Given the description of an element on the screen output the (x, y) to click on. 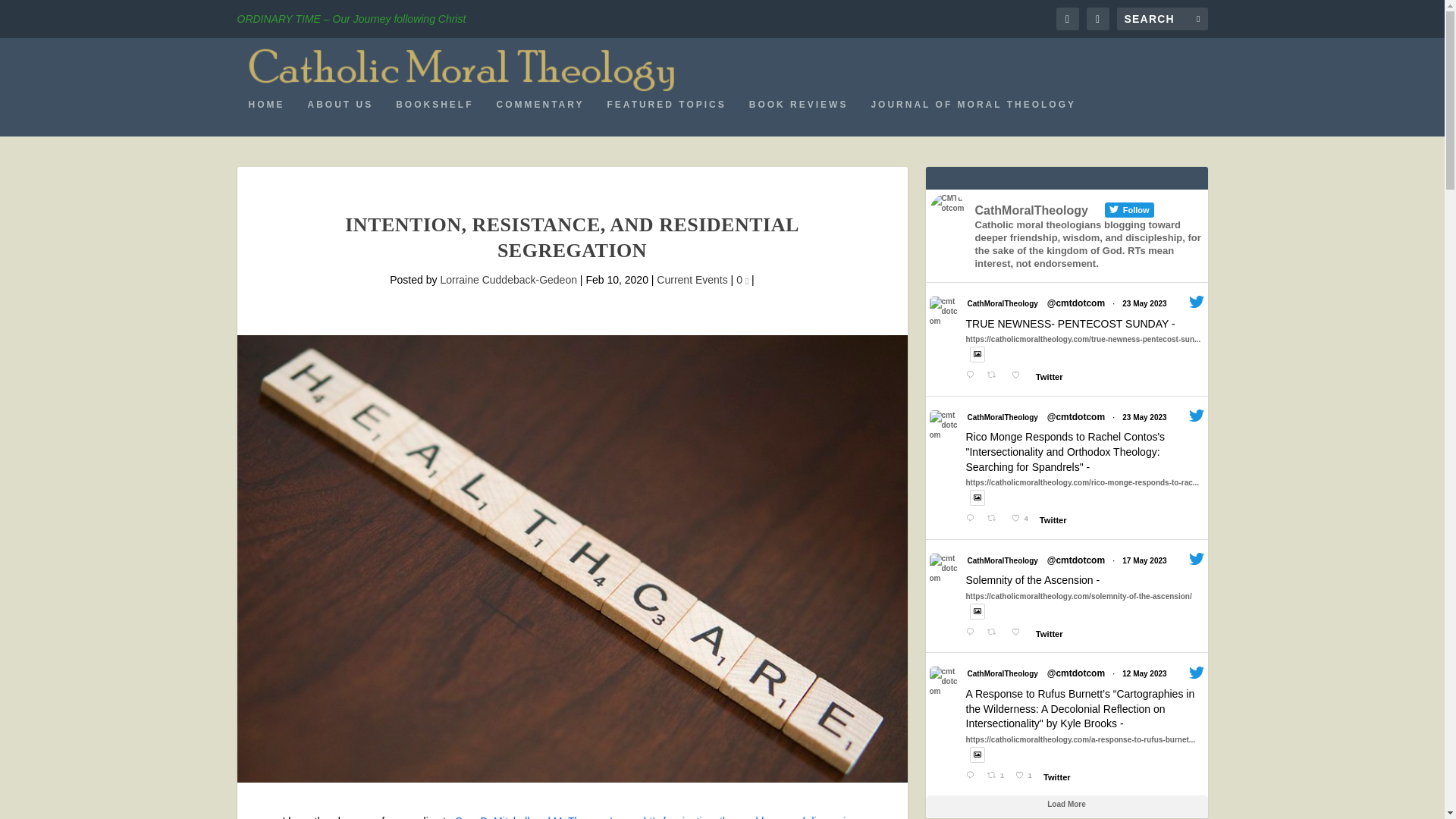
HOME (266, 117)
0 (742, 279)
Posts by Lorraine Cuddeback-Gedeon (507, 279)
FEATURED TOPICS (666, 117)
BOOKSHELF (434, 117)
Search for: (1161, 18)
COMMENTARY (540, 117)
Lorraine Cuddeback-Gedeon (507, 279)
ABOUT US (340, 117)
BOOK REVIEWS (798, 117)
